Given the description of an element on the screen output the (x, y) to click on. 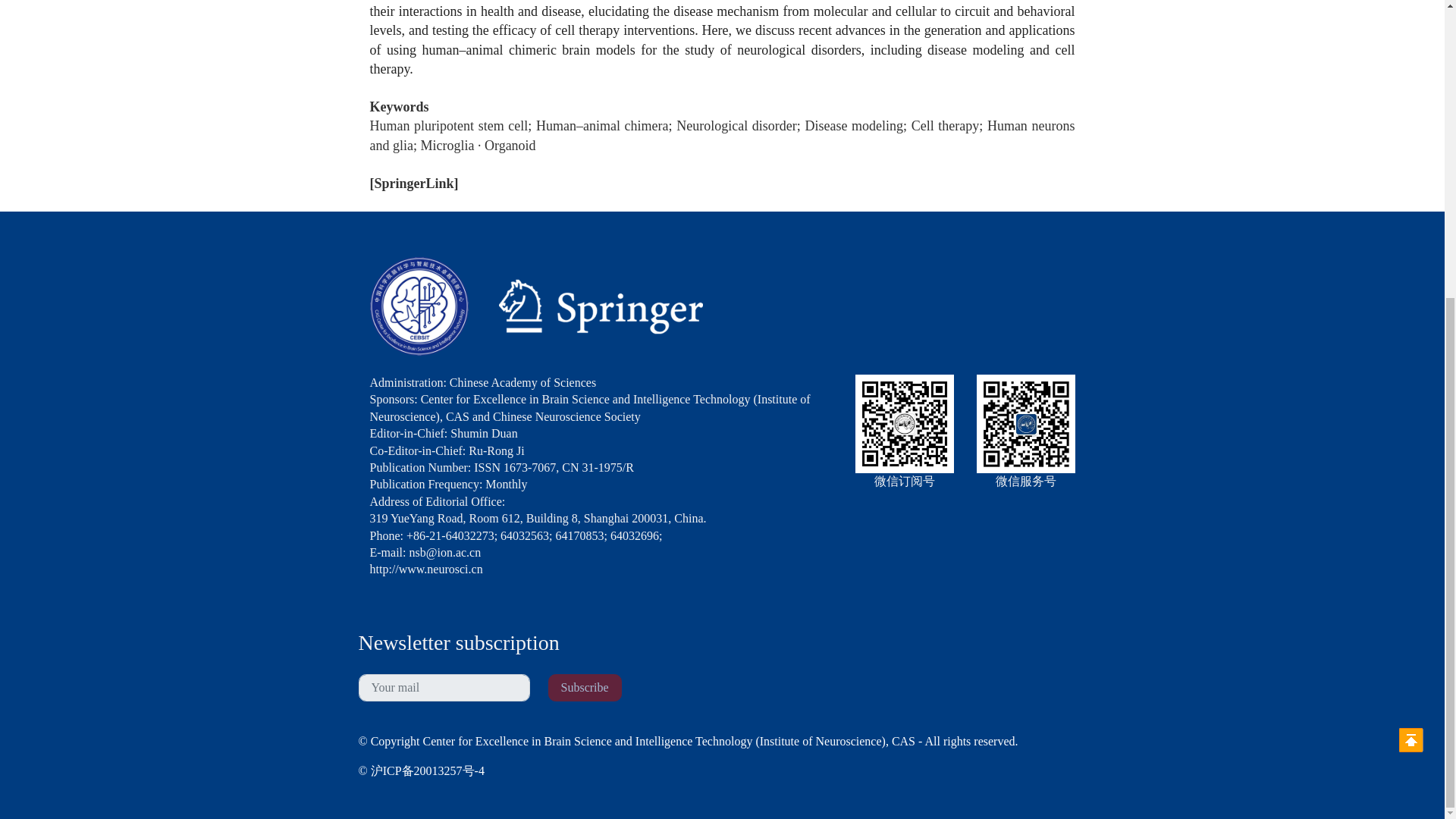
SpringerLink (414, 183)
Subscribe (584, 687)
Subscribe (584, 687)
